Given the description of an element on the screen output the (x, y) to click on. 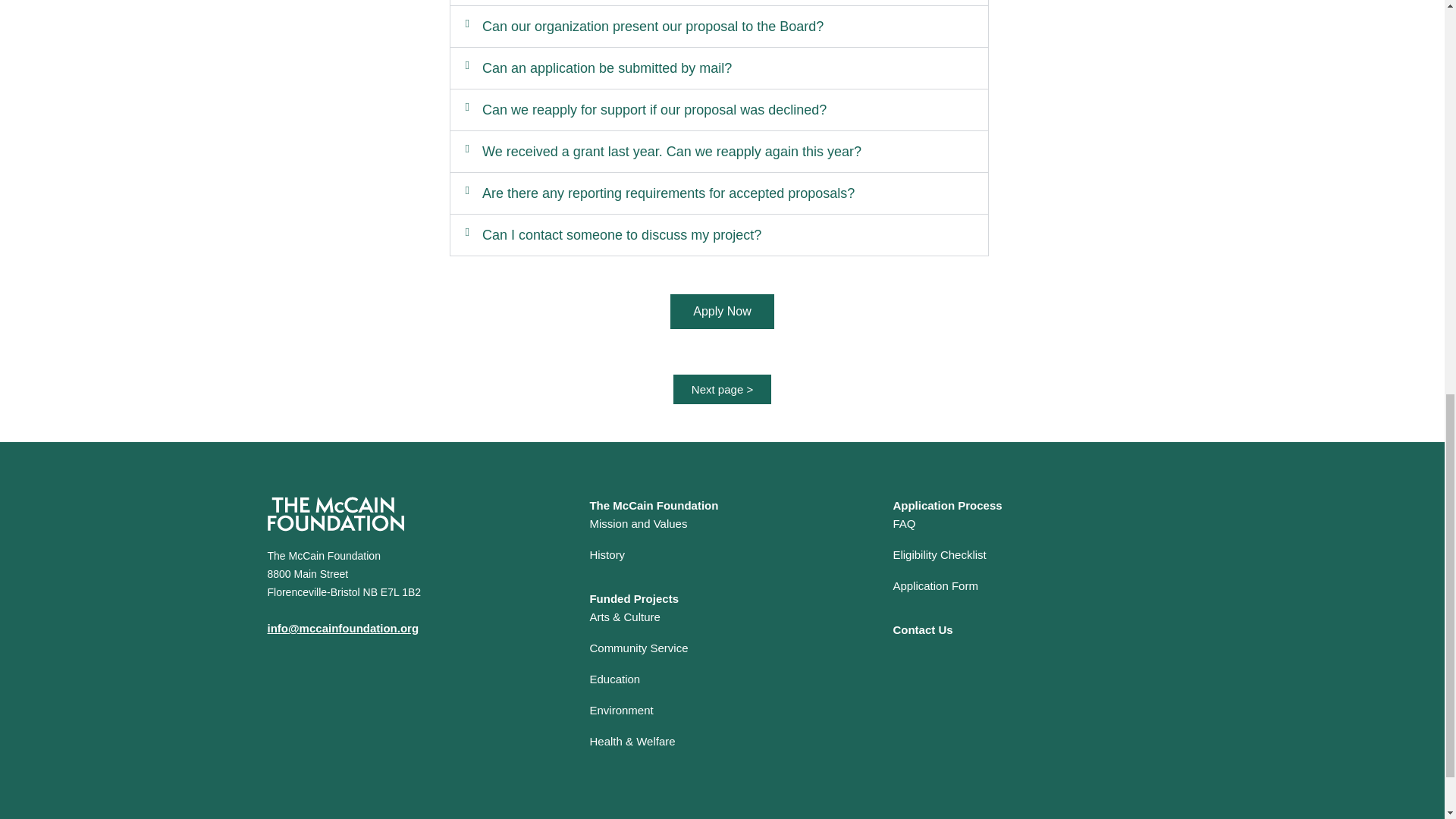
Can our organization present our proposal to the Board? (652, 26)
